Given the description of an element on the screen output the (x, y) to click on. 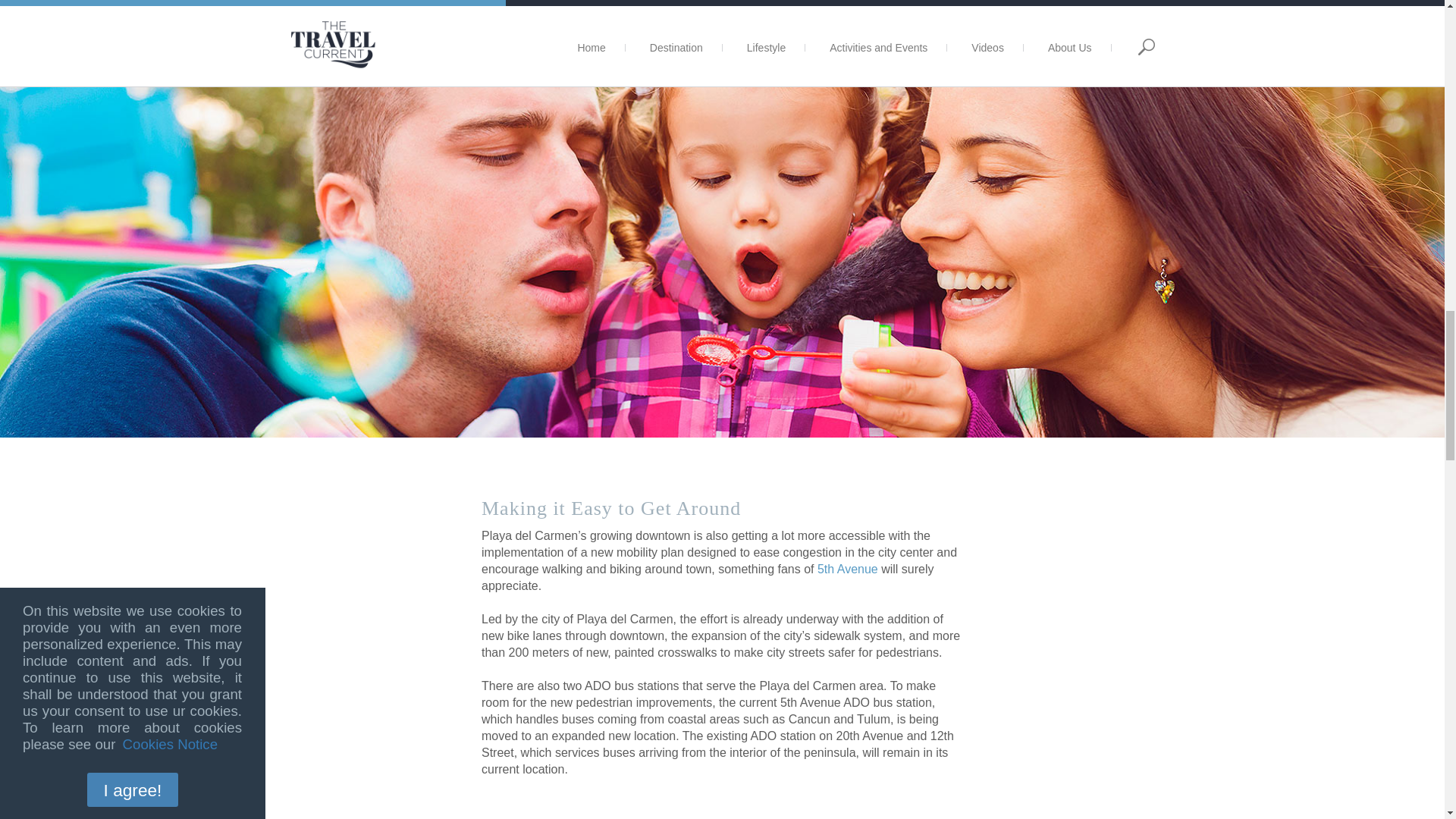
5th Avenue (846, 568)
